Given the description of an element on the screen output the (x, y) to click on. 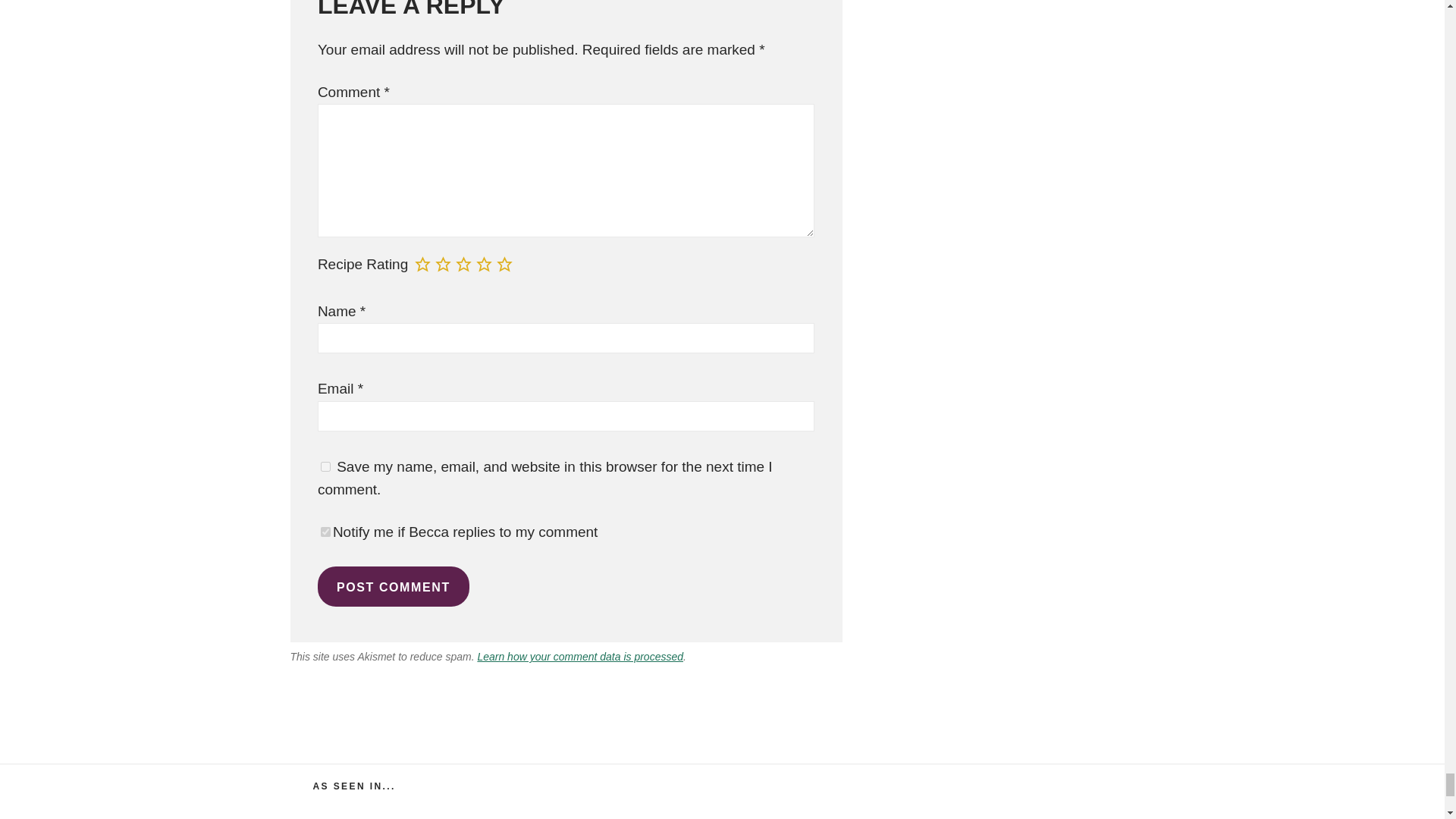
on (325, 532)
yes (325, 466)
Post Comment (392, 586)
